Given the description of an element on the screen output the (x, y) to click on. 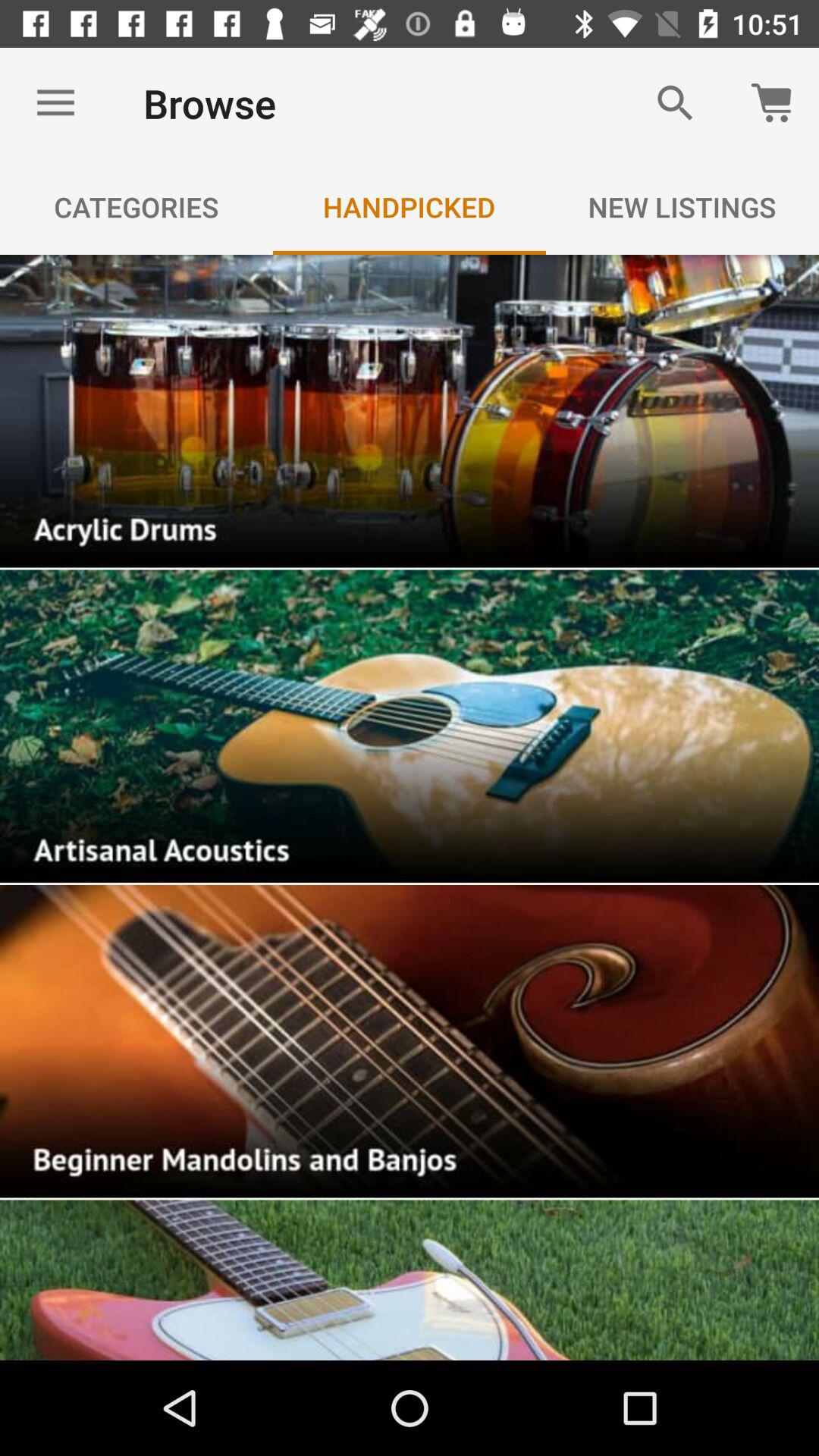
turn on item next to the browse item (675, 103)
